Given the description of an element on the screen output the (x, y) to click on. 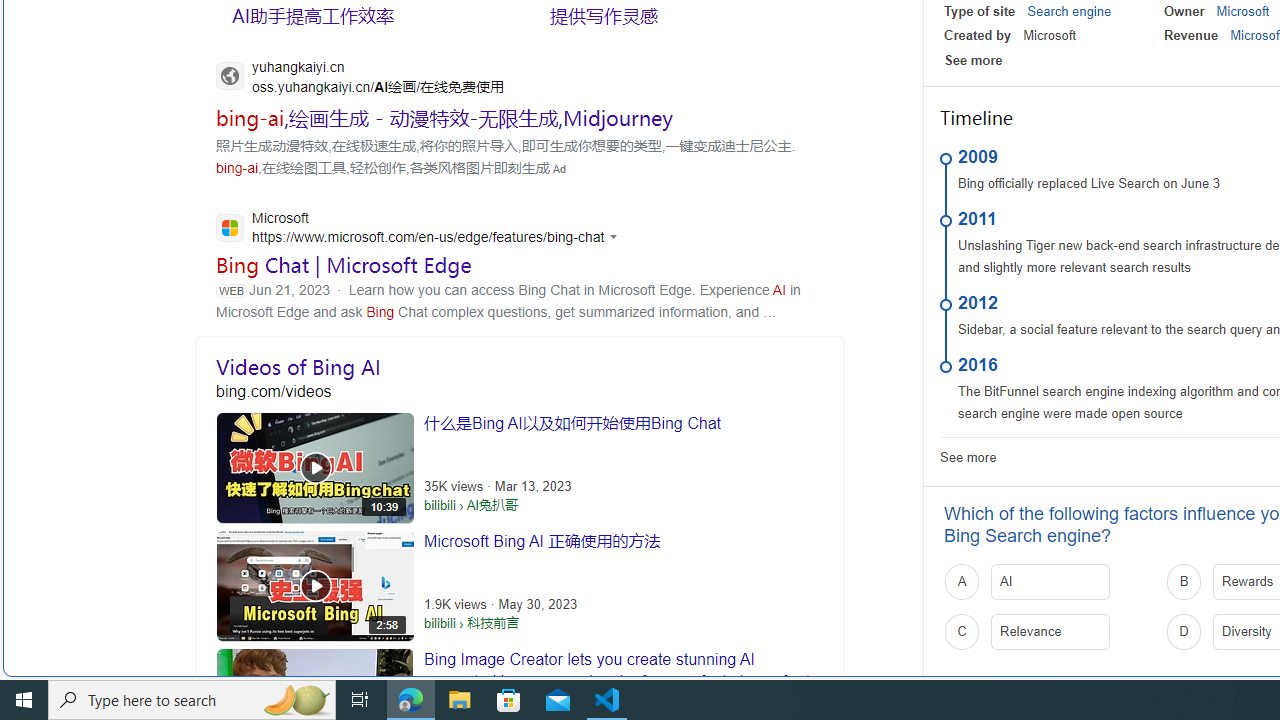
Global web icon (229, 227)
SERP,5525 (444, 117)
Created by (978, 35)
Type of site (980, 11)
SERP,5522 (683, 15)
Search engine (1069, 11)
